Given the description of an element on the screen output the (x, y) to click on. 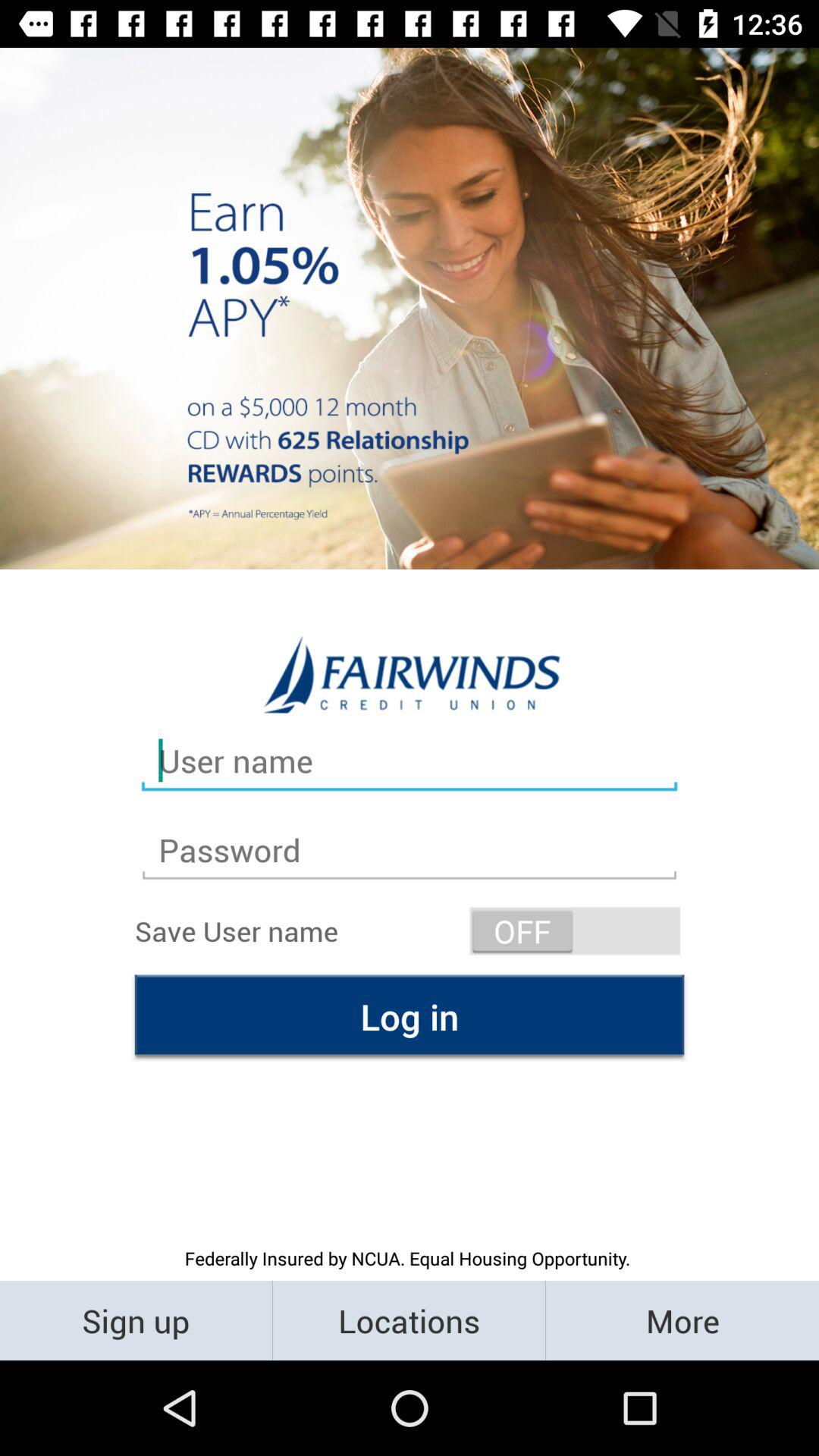
scroll to the sign up (136, 1320)
